Given the description of an element on the screen output the (x, y) to click on. 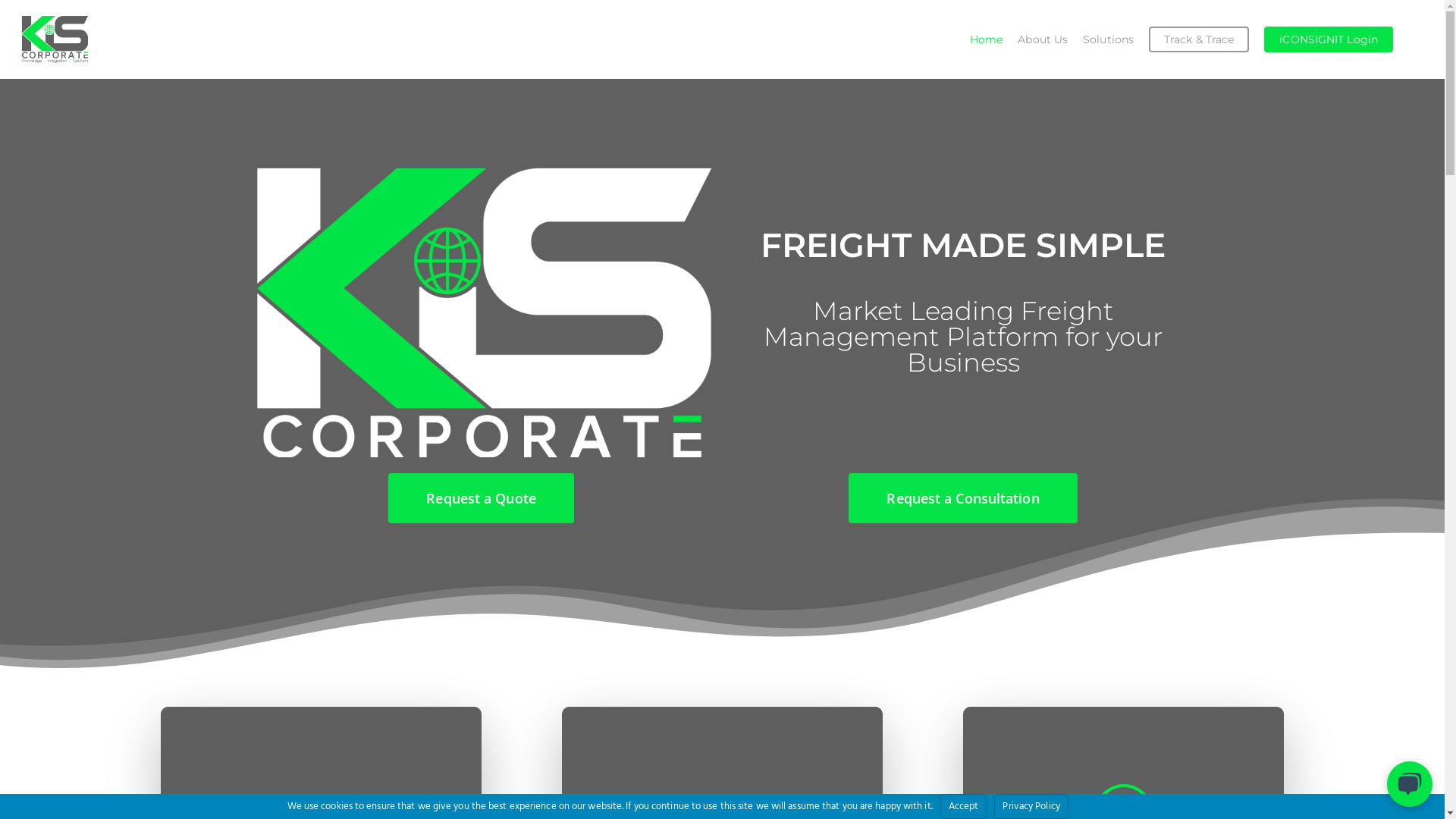
Track & Trace Element type: text (1198, 39)
Home Element type: text (986, 39)
iCONSIGNIT Login Element type: text (1328, 39)
About Us Element type: text (1042, 39)
Solutions Element type: text (1108, 39)
Request a Consultation Element type: text (962, 498)
Request a Quote Element type: text (481, 498)
